Given the description of an element on the screen output the (x, y) to click on. 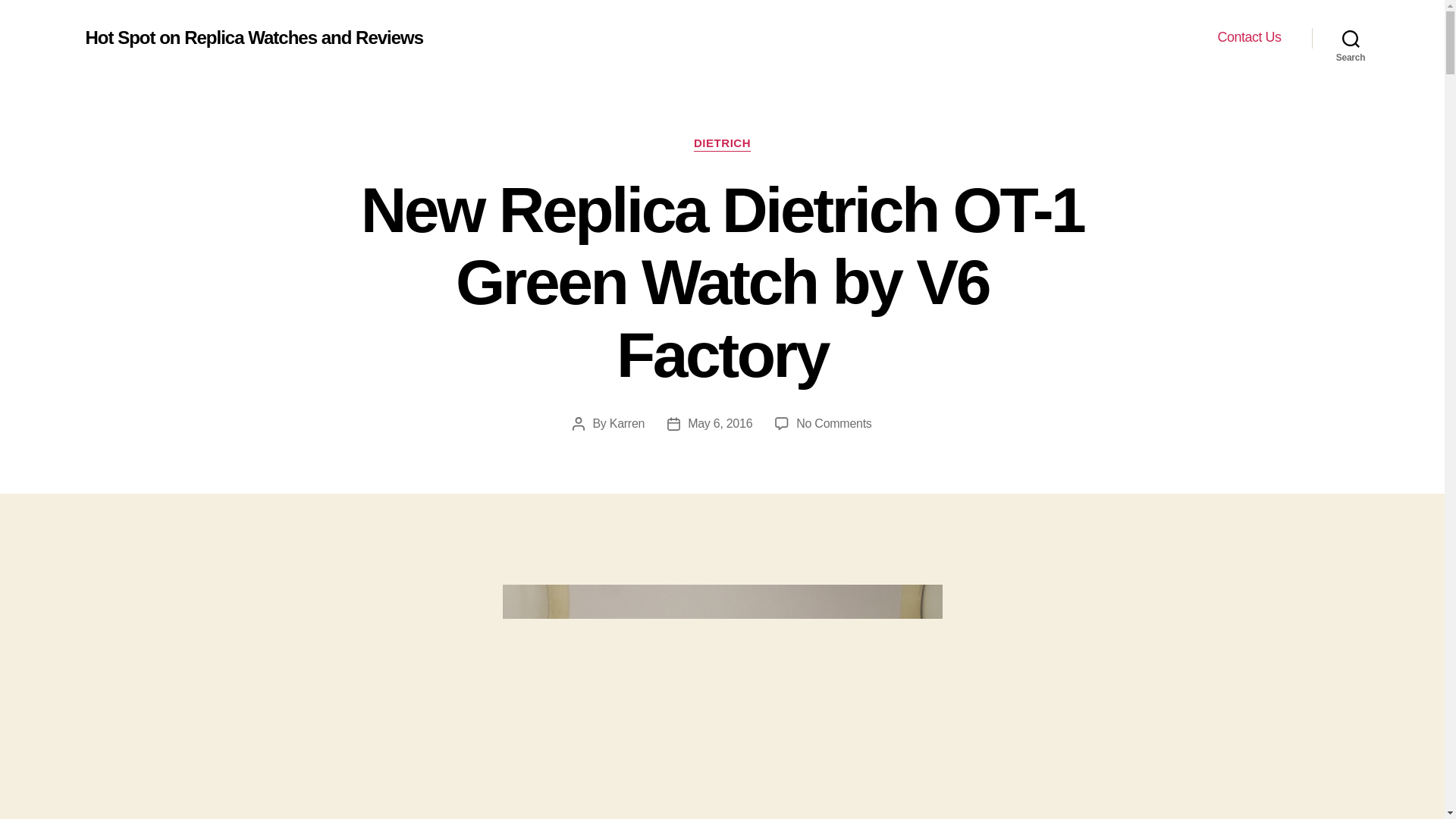
DIETRICH (722, 143)
May 6, 2016 (719, 422)
Karren (627, 422)
Search (1350, 37)
Contact Us (1249, 37)
Hot Spot on Replica Watches and Reviews (253, 37)
